Given the description of an element on the screen output the (x, y) to click on. 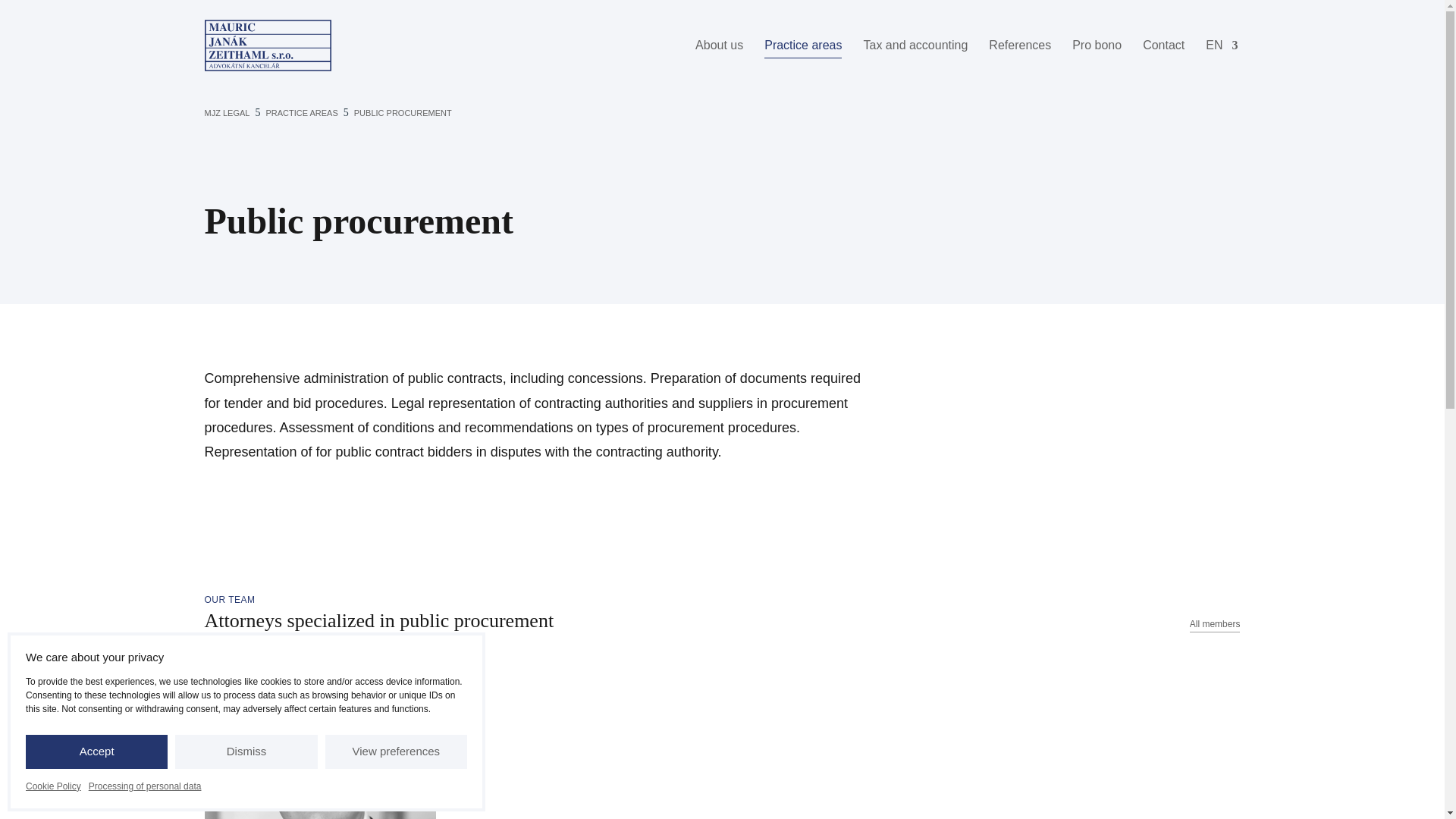
References (1019, 45)
David Fechtner (320, 737)
Accept (96, 751)
Dismiss (245, 751)
Cookie Policy (53, 786)
All members (1214, 624)
Tax and accounting (915, 45)
MJZ LEGAL (227, 112)
Practice areas (802, 45)
View preferences (395, 751)
Processing of personal data (320, 737)
PRACTICE AREAS (145, 786)
